Given the description of an element on the screen output the (x, y) to click on. 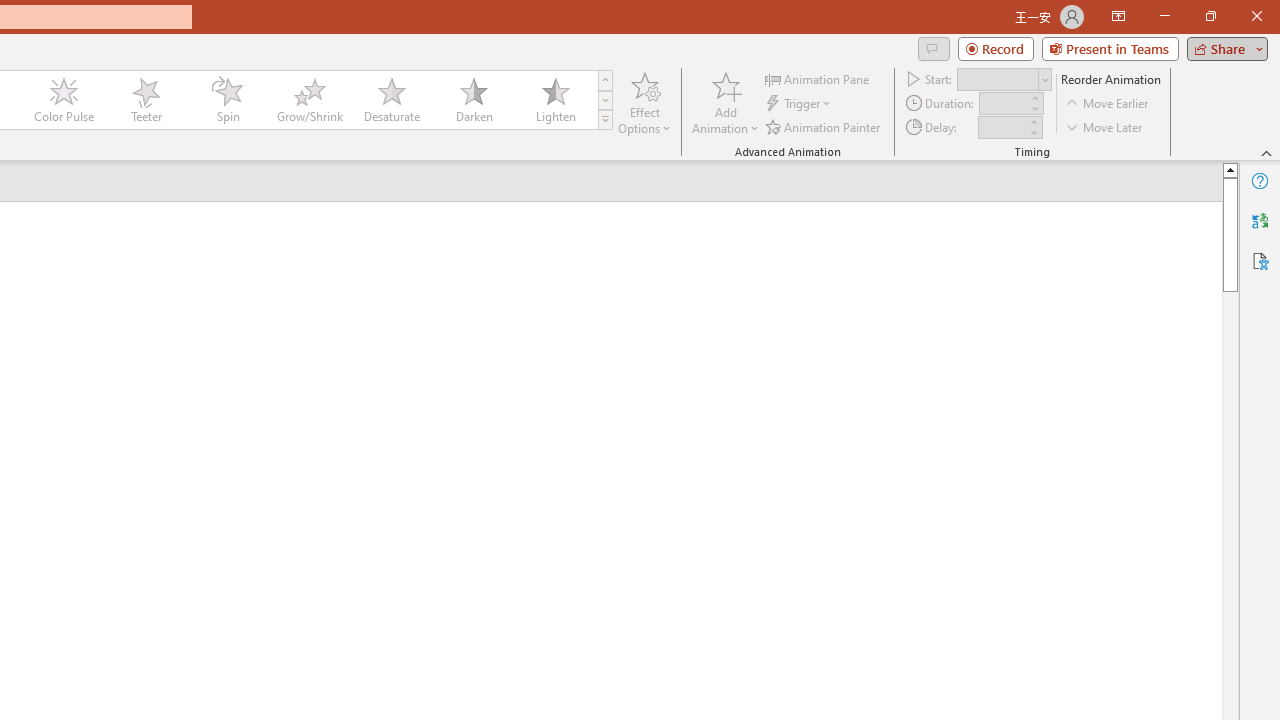
Start (1004, 78)
Effect Options (644, 102)
More (1033, 121)
Trigger (799, 103)
Grow/Shrink (309, 100)
Line up (1230, 169)
Move Later (1105, 126)
